Given the description of an element on the screen output the (x, y) to click on. 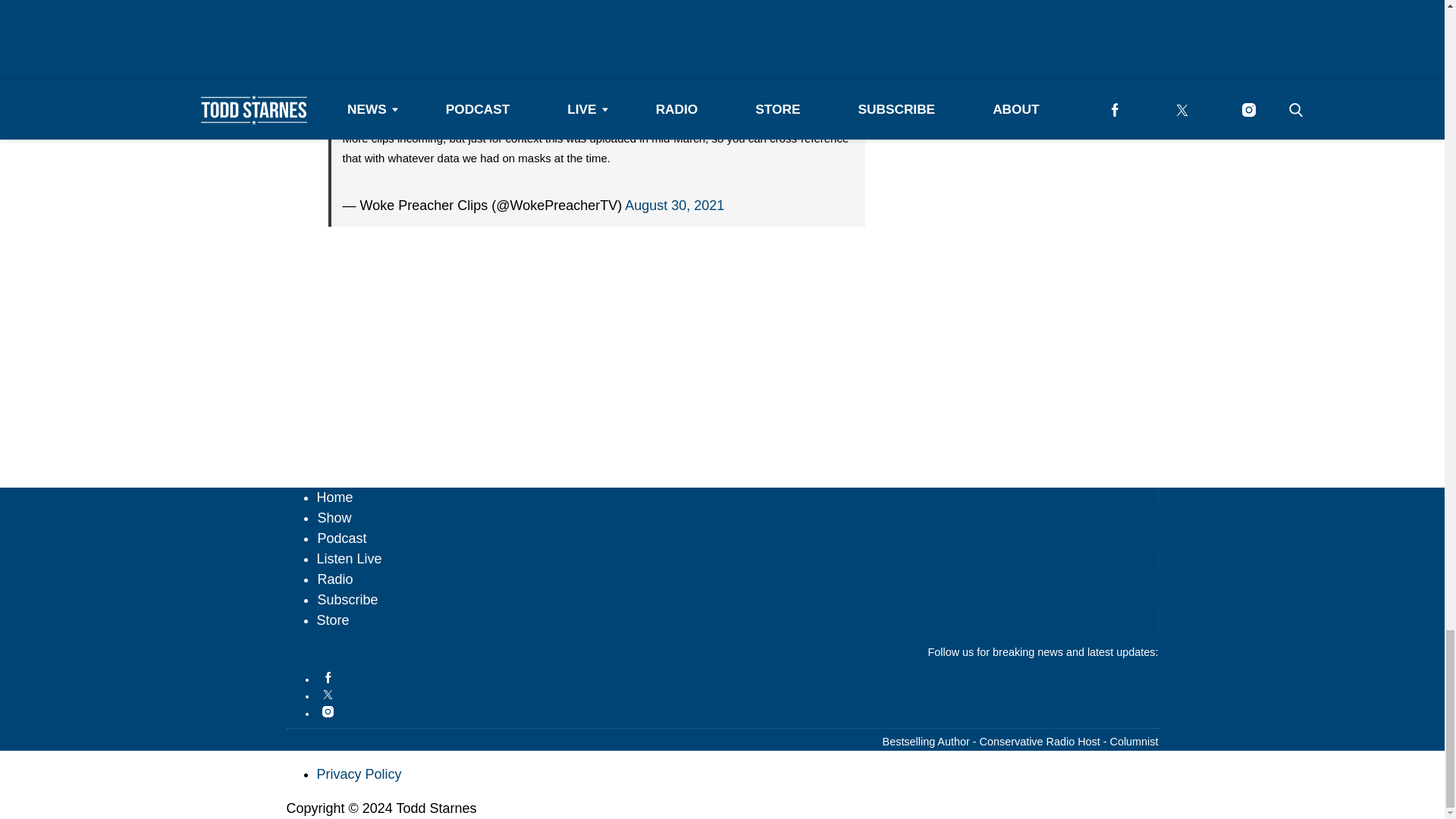
Follow us on Twitter (737, 694)
Show (333, 517)
Follow us on Facebook (737, 677)
August 30, 2021 (673, 68)
Podcast (341, 538)
Home (335, 497)
Radio (334, 579)
August 30, 2021 (673, 205)
Subscribe (347, 599)
Listen Live (349, 558)
Follow us on Instagram (737, 711)
